Given the description of an element on the screen output the (x, y) to click on. 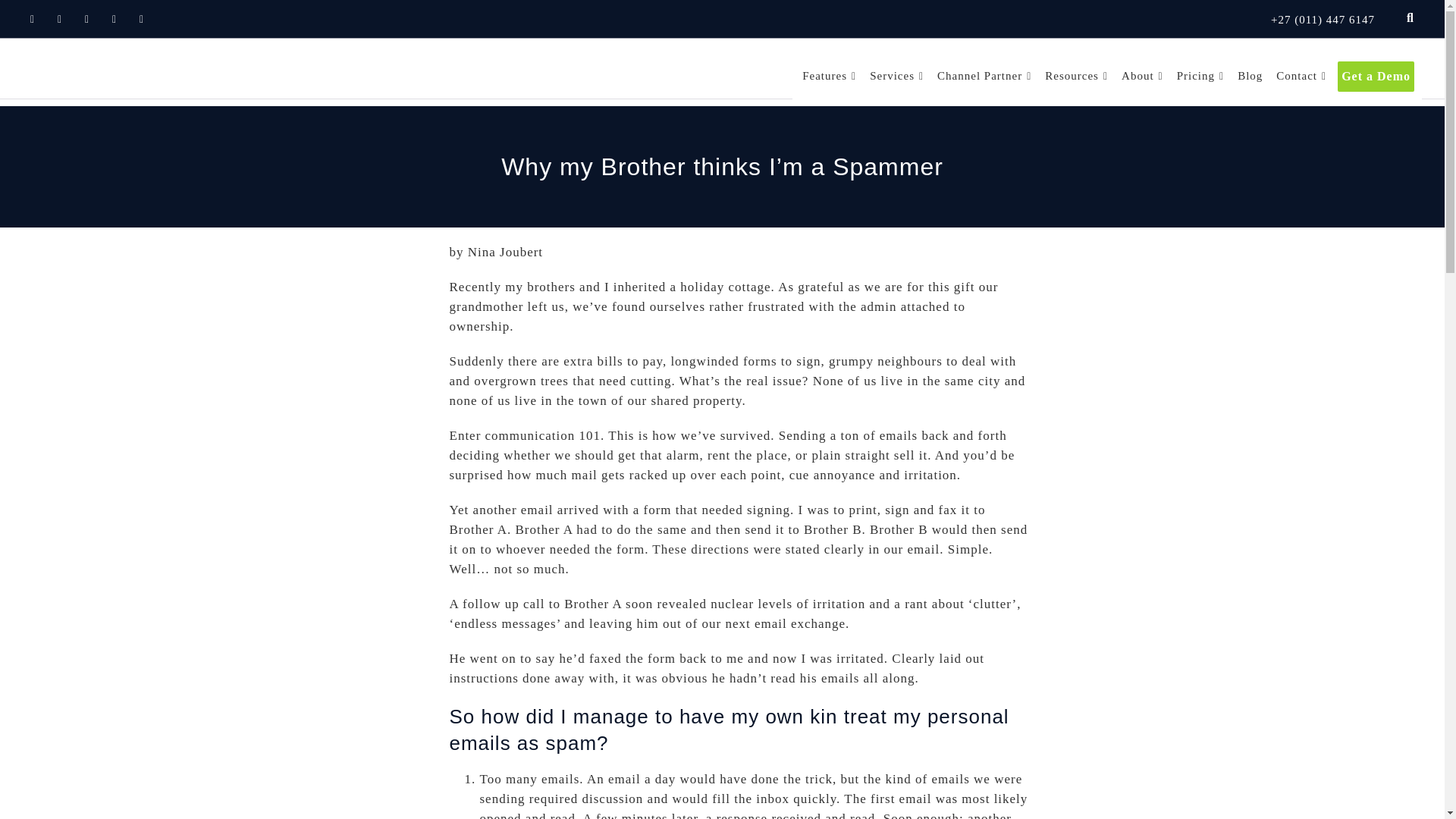
Services (896, 75)
Channel Partner (983, 75)
LinkedIn (87, 18)
LinkedIn (87, 18)
Facebook (32, 18)
Instagram (141, 18)
X (59, 18)
YouTube (113, 18)
Instagram (141, 18)
Facebook (32, 18)
